Given the description of an element on the screen output the (x, y) to click on. 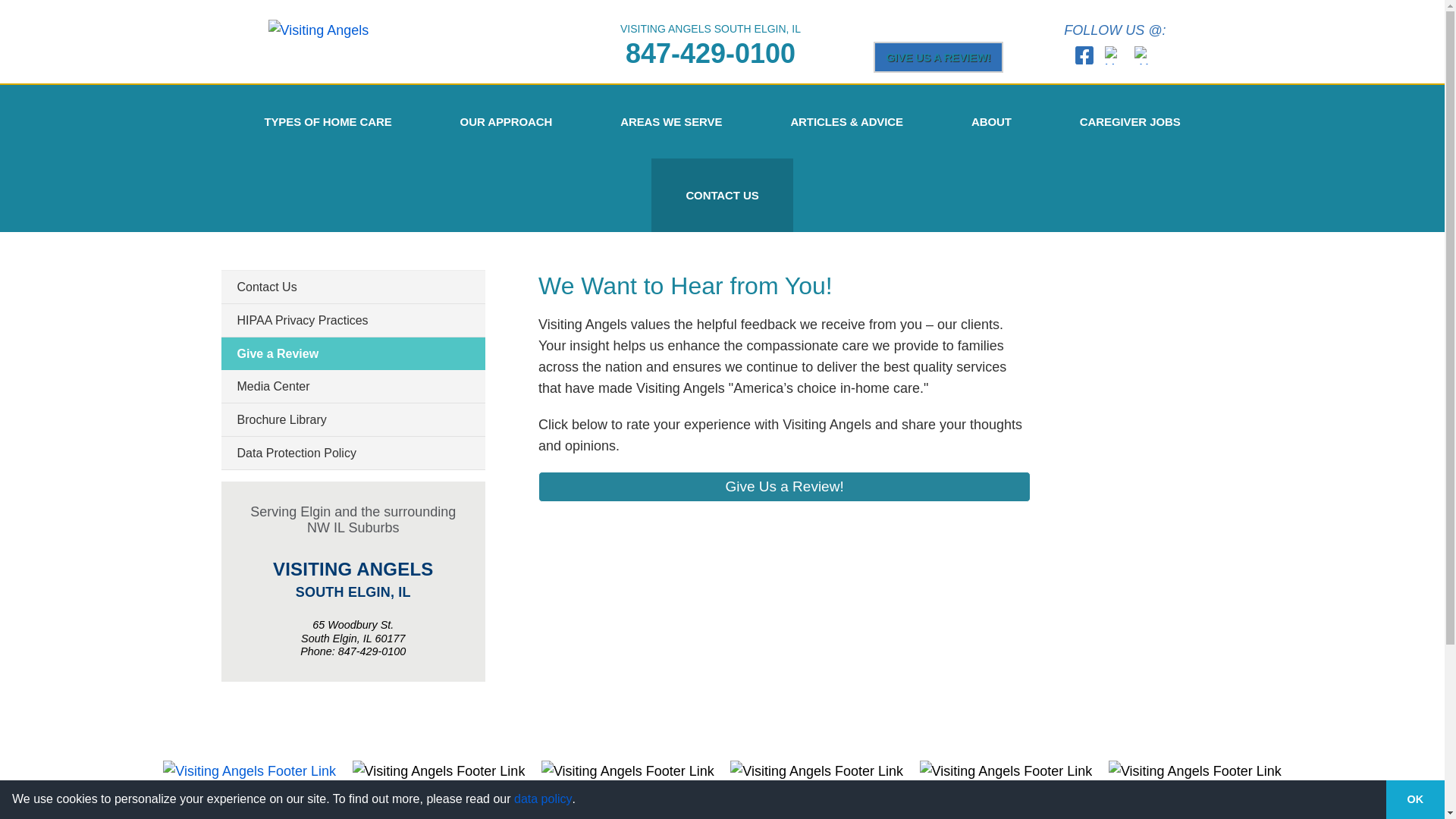
OUR APPROACH (506, 121)
ABOUT (991, 121)
AREAS WE SERVE (670, 121)
TYPES OF HOME CARE (327, 121)
847-429-0100 (710, 52)
GIVE US A REVIEW! (938, 56)
data policy (542, 798)
